Given the description of an element on the screen output the (x, y) to click on. 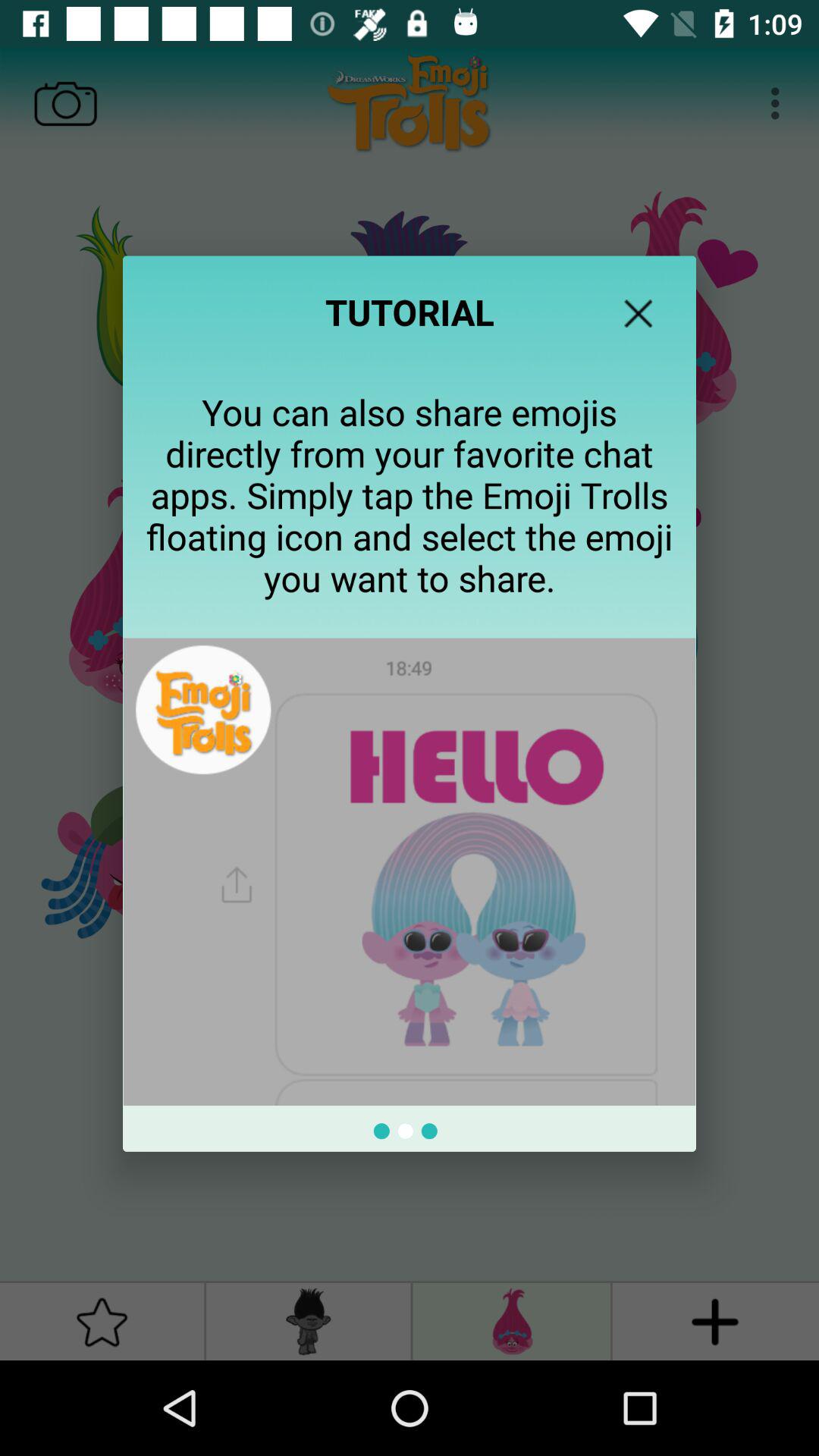
click the exit (638, 313)
